Given the description of an element on the screen output the (x, y) to click on. 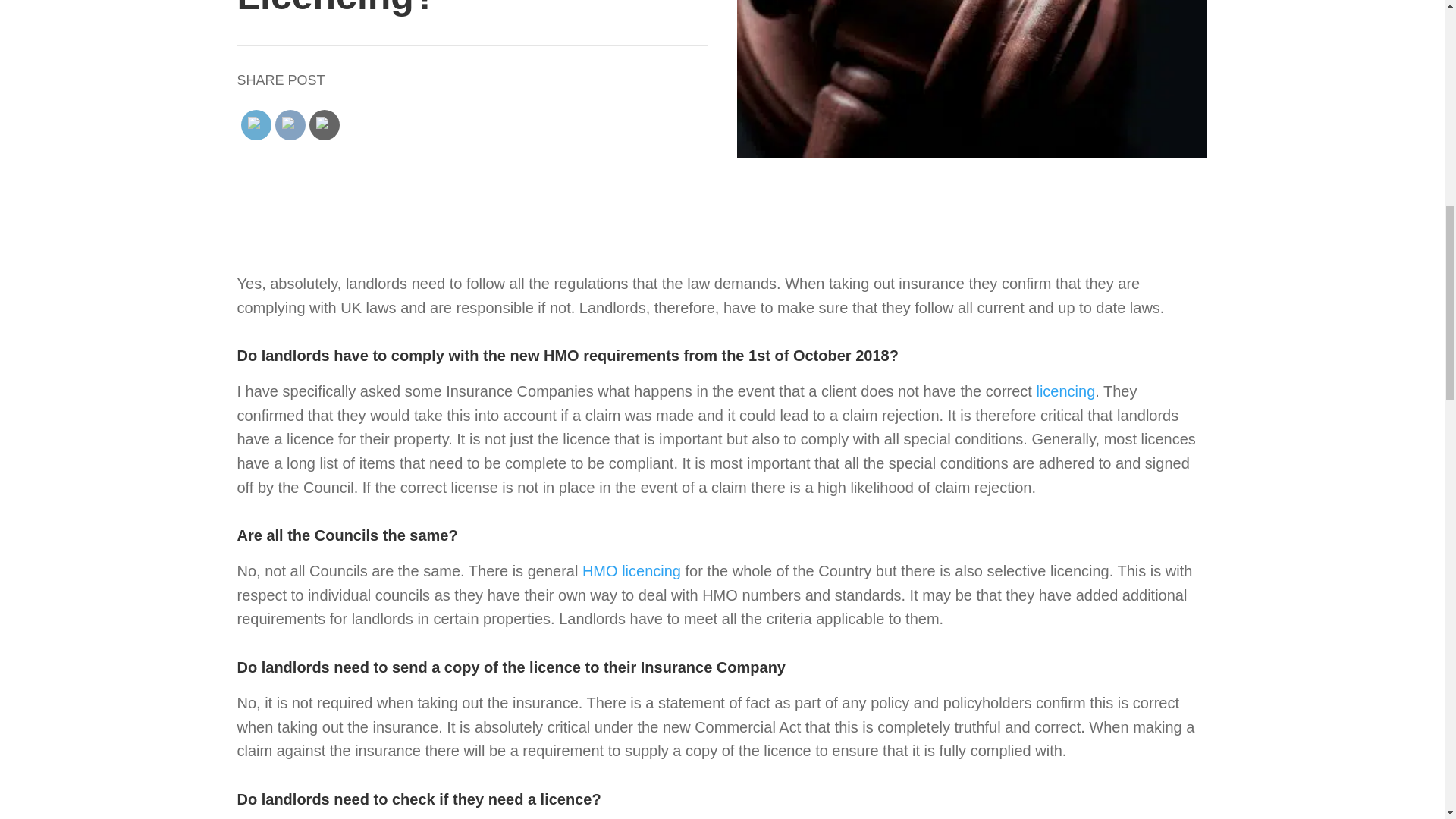
HMO licencing (631, 570)
Twitter (323, 125)
LinkedIn (255, 125)
Facebook (290, 125)
licencing (1064, 391)
